Given the description of an element on the screen output the (x, y) to click on. 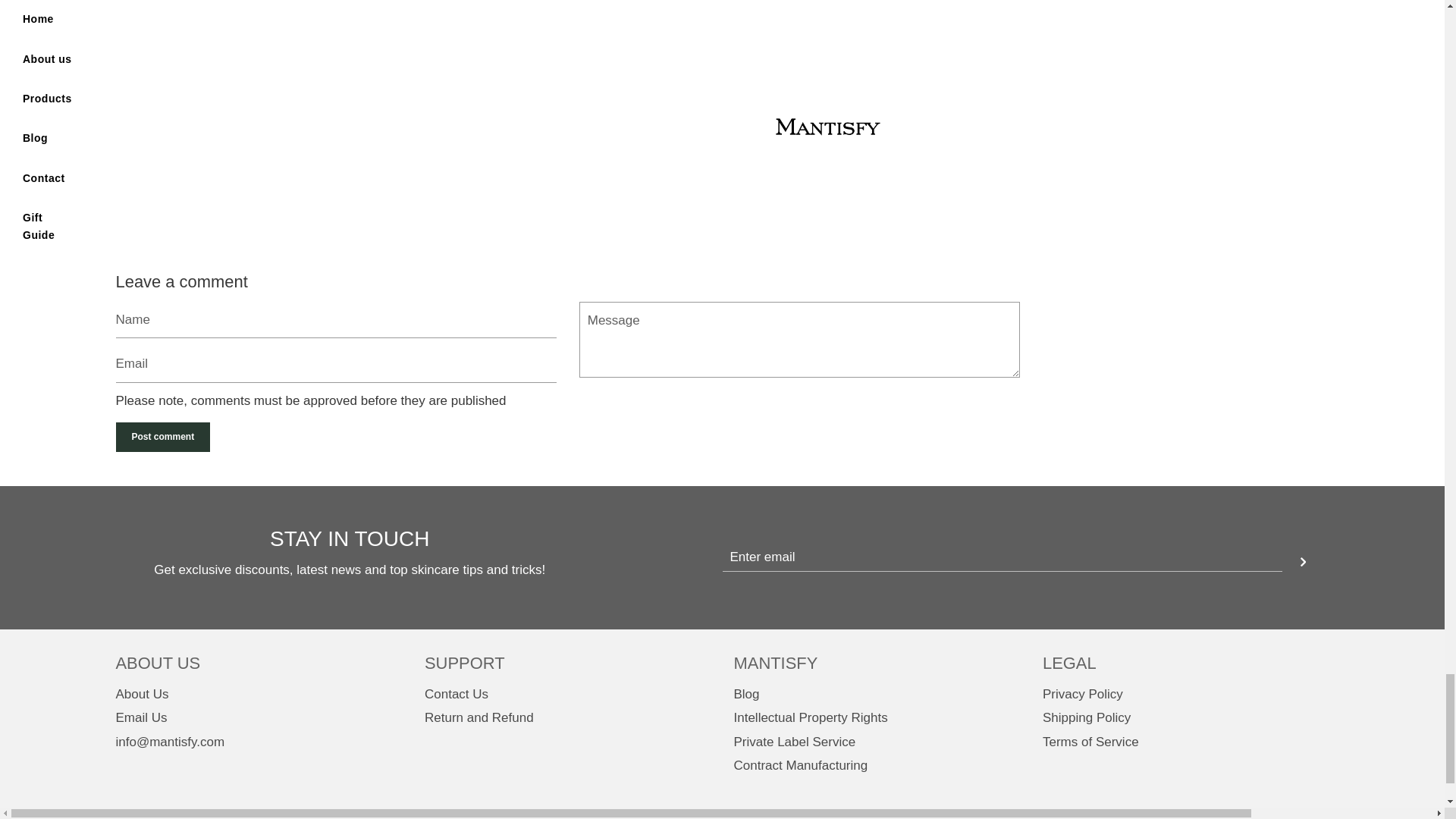
Newer post (970, 247)
Post comment (162, 437)
Post comment (162, 437)
Older post (161, 247)
